Given the description of an element on the screen output the (x, y) to click on. 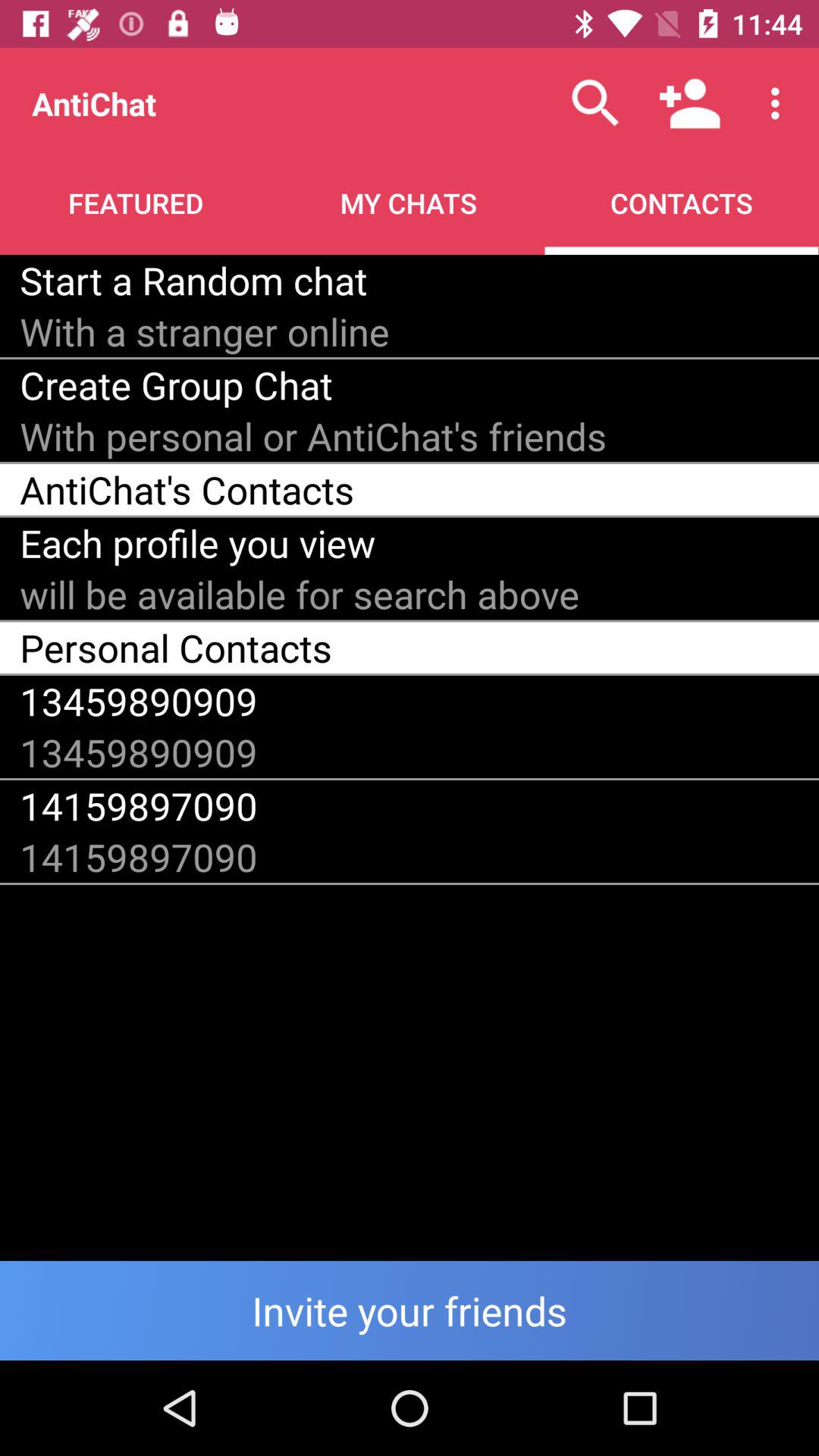
turn off item above 13459890909 icon (175, 647)
